Given the description of an element on the screen output the (x, y) to click on. 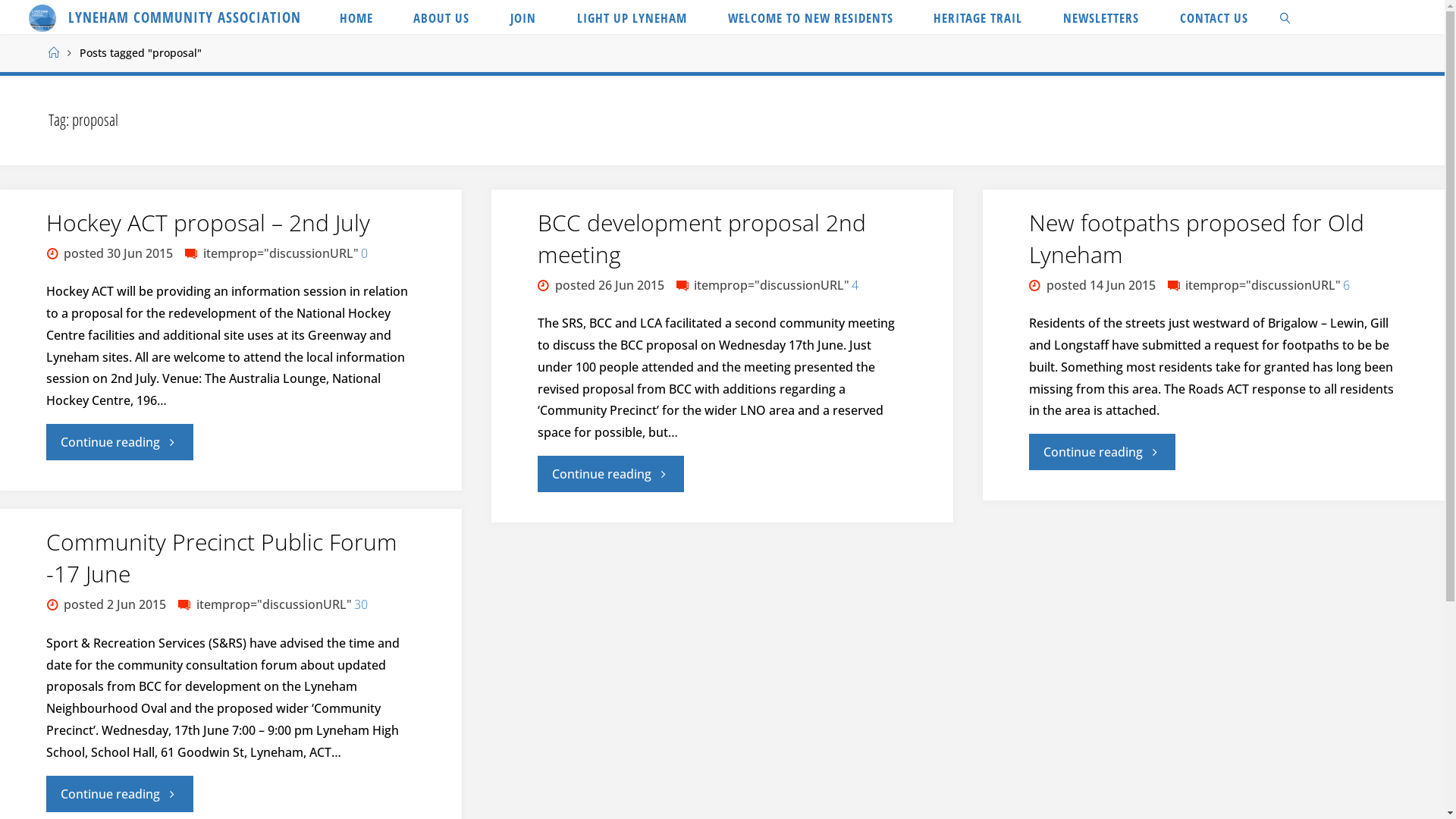
Date Element type: hover (544, 284)
6 Element type: text (1344, 284)
ABOUT US Element type: text (440, 17)
Continue reading
"Community Precinct Public Forum -17 June" Element type: text (119, 793)
4 Element type: text (853, 284)
HOME Element type: text (356, 17)
Continue reading
"BCC development proposal 2nd meeting" Element type: text (610, 473)
New footpaths proposed for Old Lyneham Element type: text (1196, 237)
Home Element type: text (53, 52)
BCC development proposal 2nd meeting Element type: text (701, 237)
0 Element type: text (362, 252)
CONTACT US Element type: text (1213, 17)
LIGHT UP LYNEHAM Element type: text (631, 17)
Date Element type: hover (53, 252)
WELCOME TO NEW RESIDENTS Element type: text (810, 17)
Date Element type: hover (1036, 284)
Lyneham Community Association Element type: hover (42, 16)
30 Element type: text (359, 604)
JOIN Element type: text (522, 17)
LYNEHAM COMMUNITY ASSOCIATION Element type: text (184, 17)
NEWSLETTERS Element type: text (1100, 17)
Continue reading
"New footpaths proposed for Old Lyneham" Element type: text (1102, 451)
Community Precinct Public Forum -17 June Element type: text (221, 557)
HERITAGE TRAIL Element type: text (977, 17)
Date Element type: hover (53, 604)
SEARCH Element type: text (1285, 17)
